Given the description of an element on the screen output the (x, y) to click on. 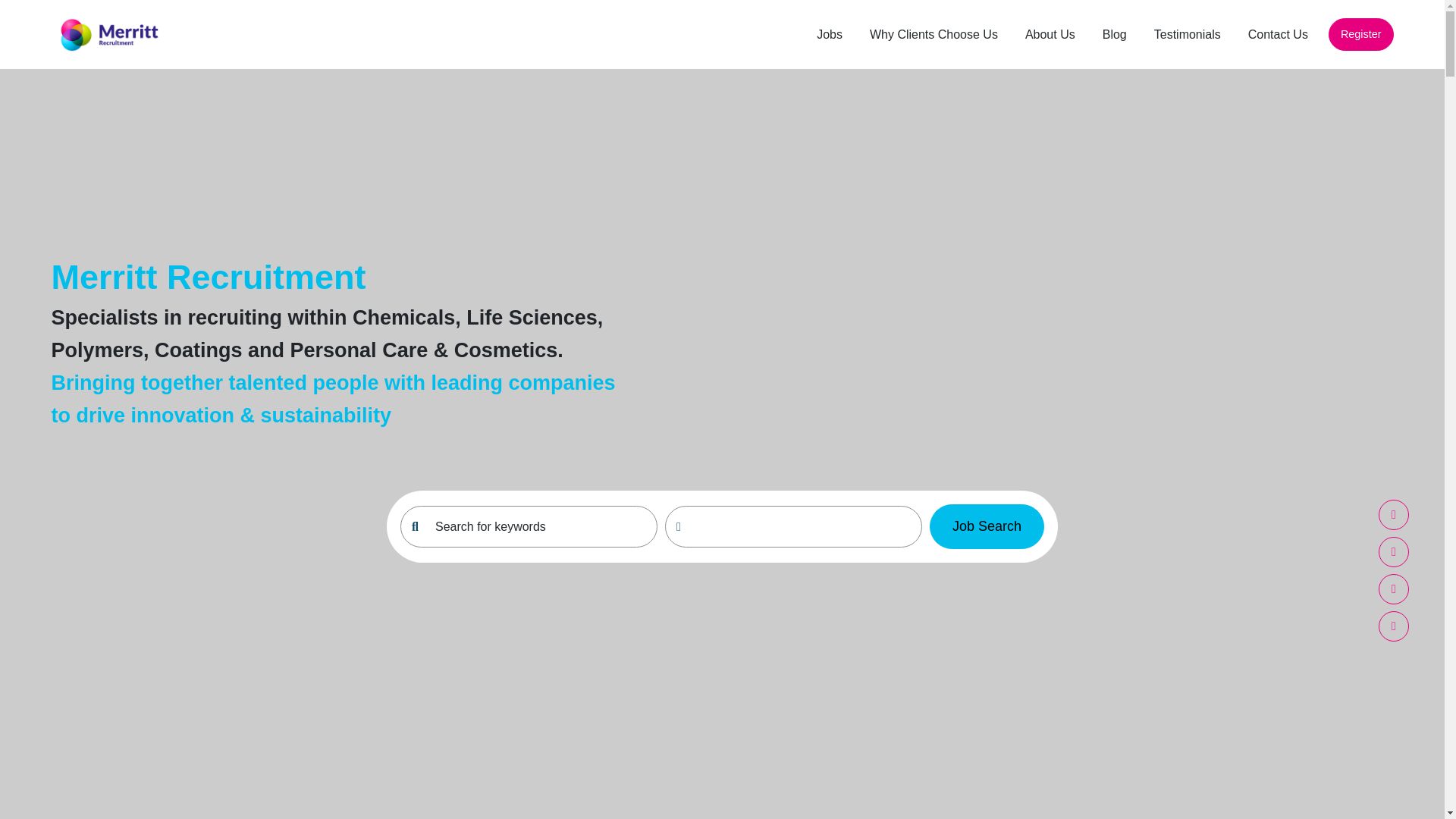
Blog (1115, 34)
Testimonials (1187, 34)
About Us (1049, 34)
Register (1360, 34)
Why Clients Choose Us (933, 34)
Jobs (828, 34)
Contact Us (1277, 34)
Job Search (986, 526)
